Given the description of an element on the screen output the (x, y) to click on. 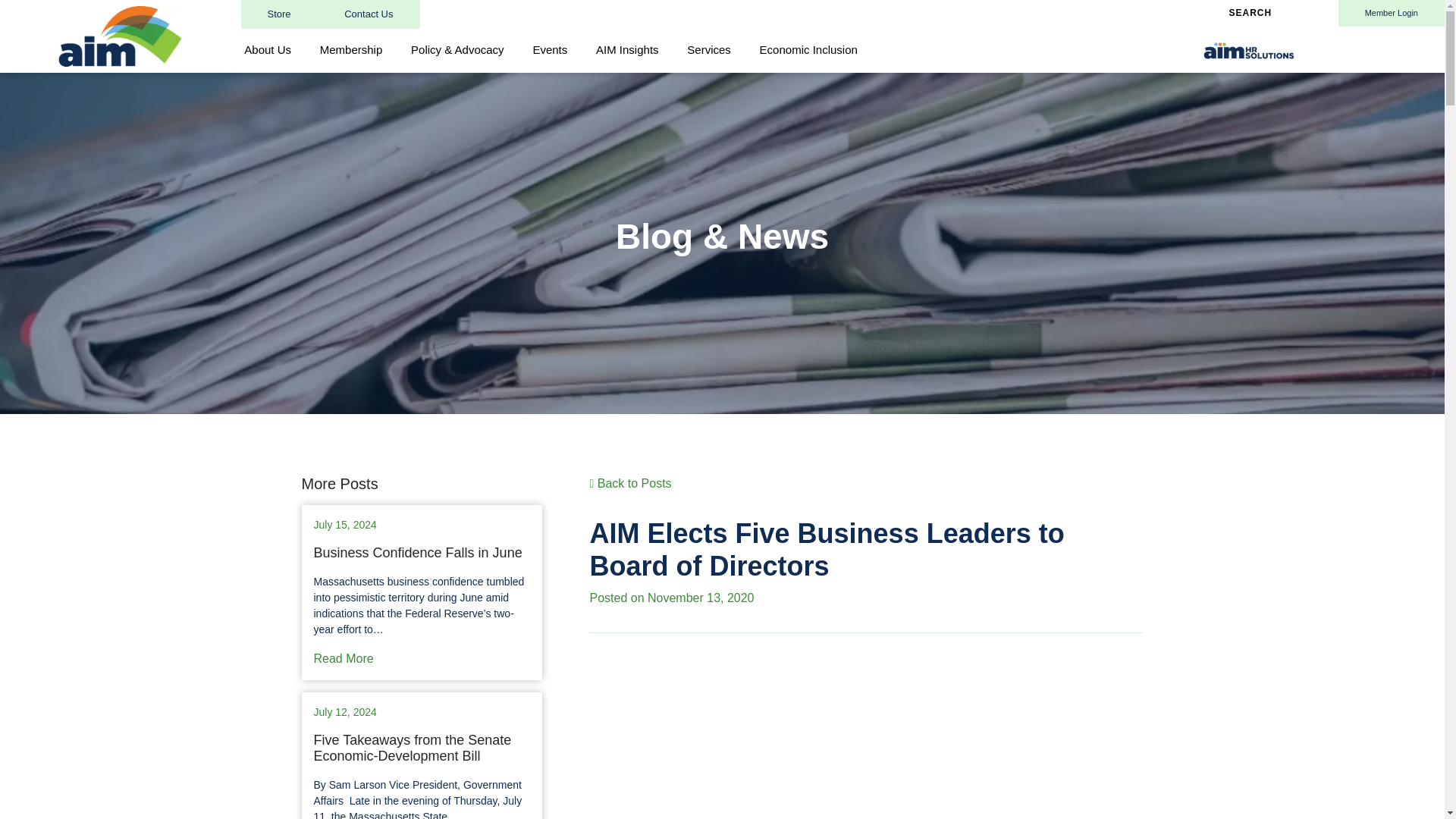
About Us (267, 50)
Contact Us (368, 14)
AIM Insights (627, 50)
Events (549, 50)
Membership (350, 50)
Store (279, 14)
